Given the description of an element on the screen output the (x, y) to click on. 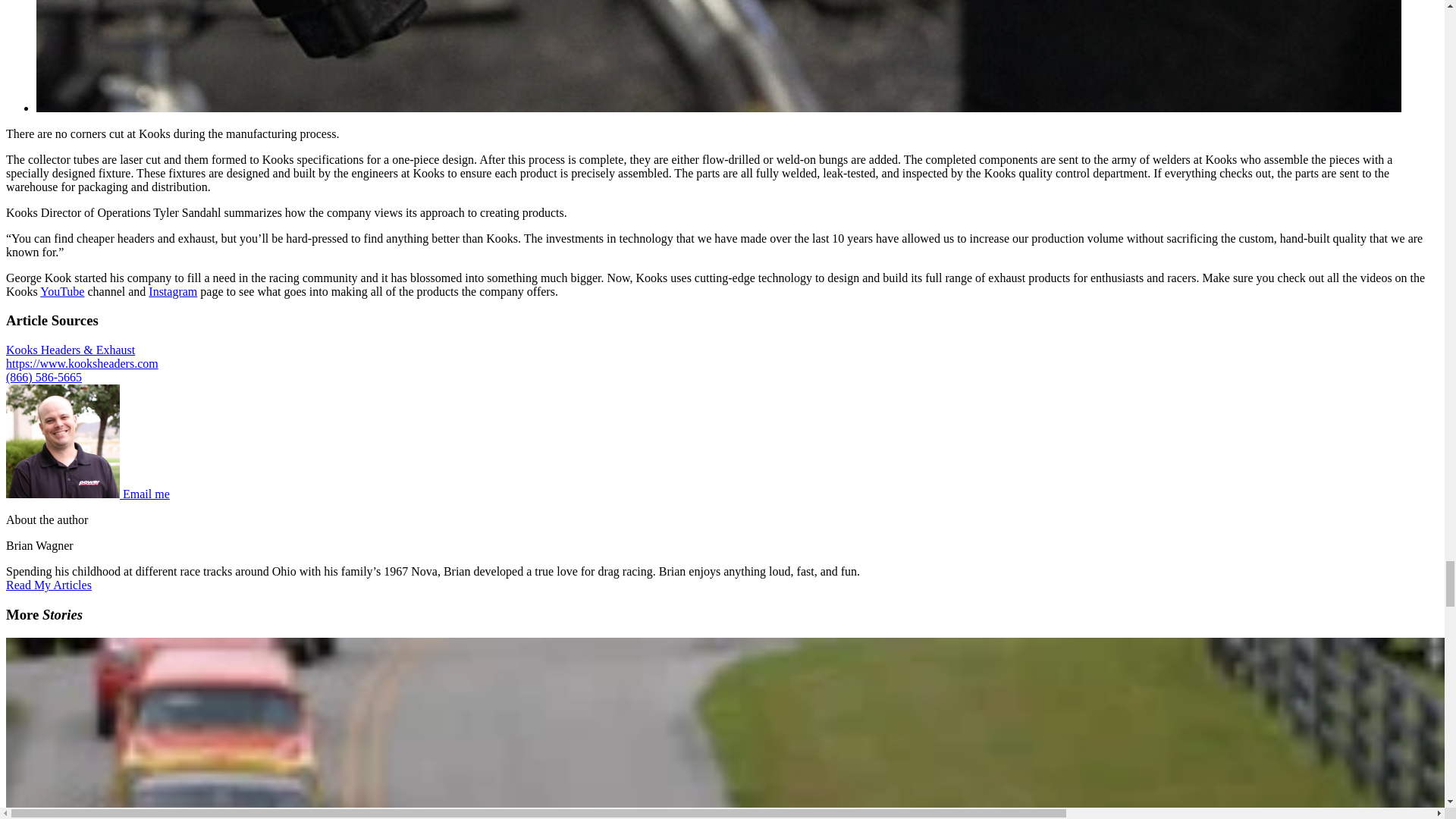
Read My Articles (48, 584)
Email me (146, 493)
Instagram (172, 291)
YouTube (62, 291)
